Given the description of an element on the screen output the (x, y) to click on. 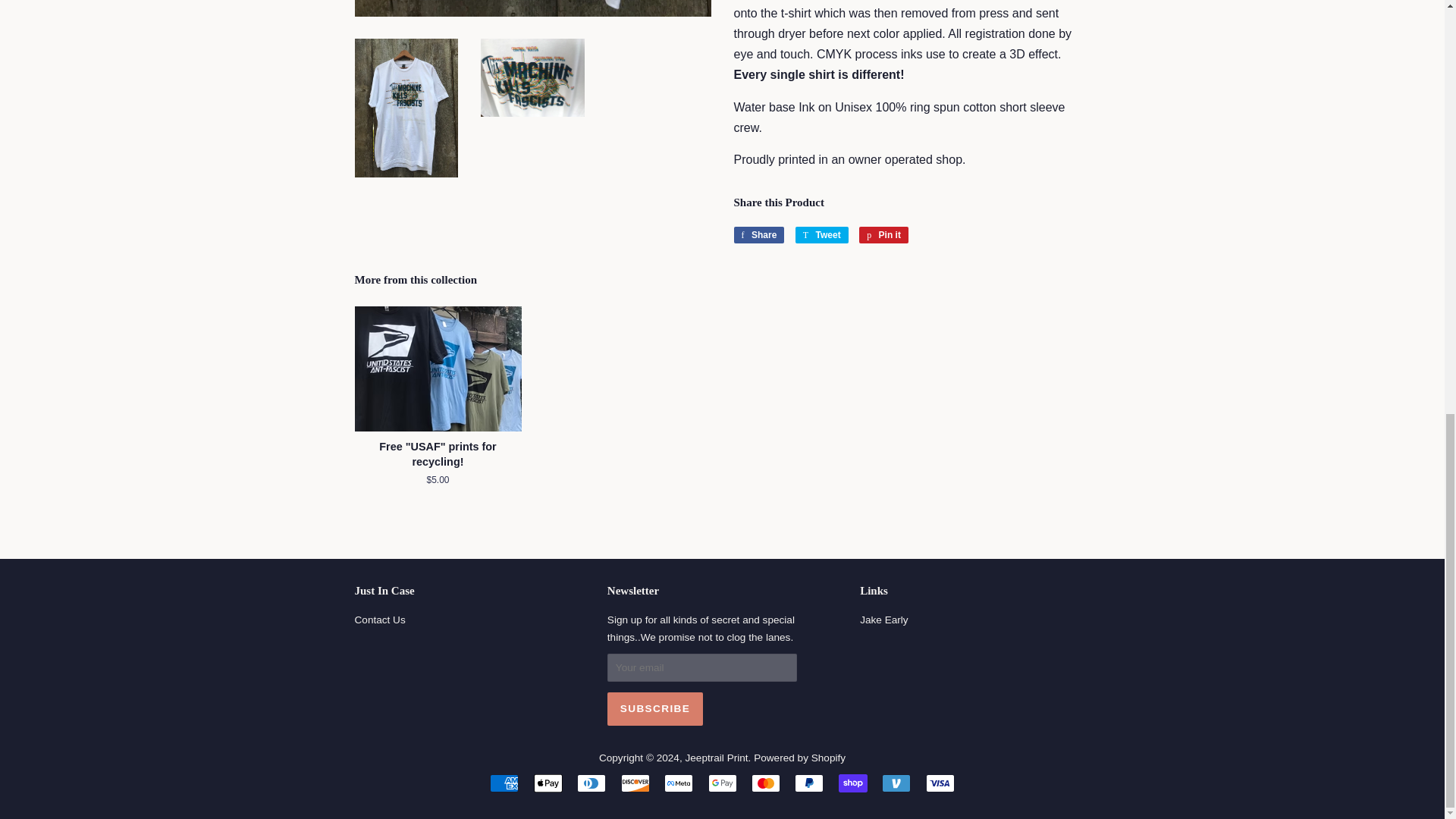
Google Pay (721, 782)
Subscribe (655, 708)
Subscribe (655, 708)
American Express (503, 782)
Pin on Pinterest (883, 234)
Jake Early (883, 234)
Apple Pay (883, 619)
Shop Pay (548, 782)
Meta Pay (852, 782)
